Given the description of an element on the screen output the (x, y) to click on. 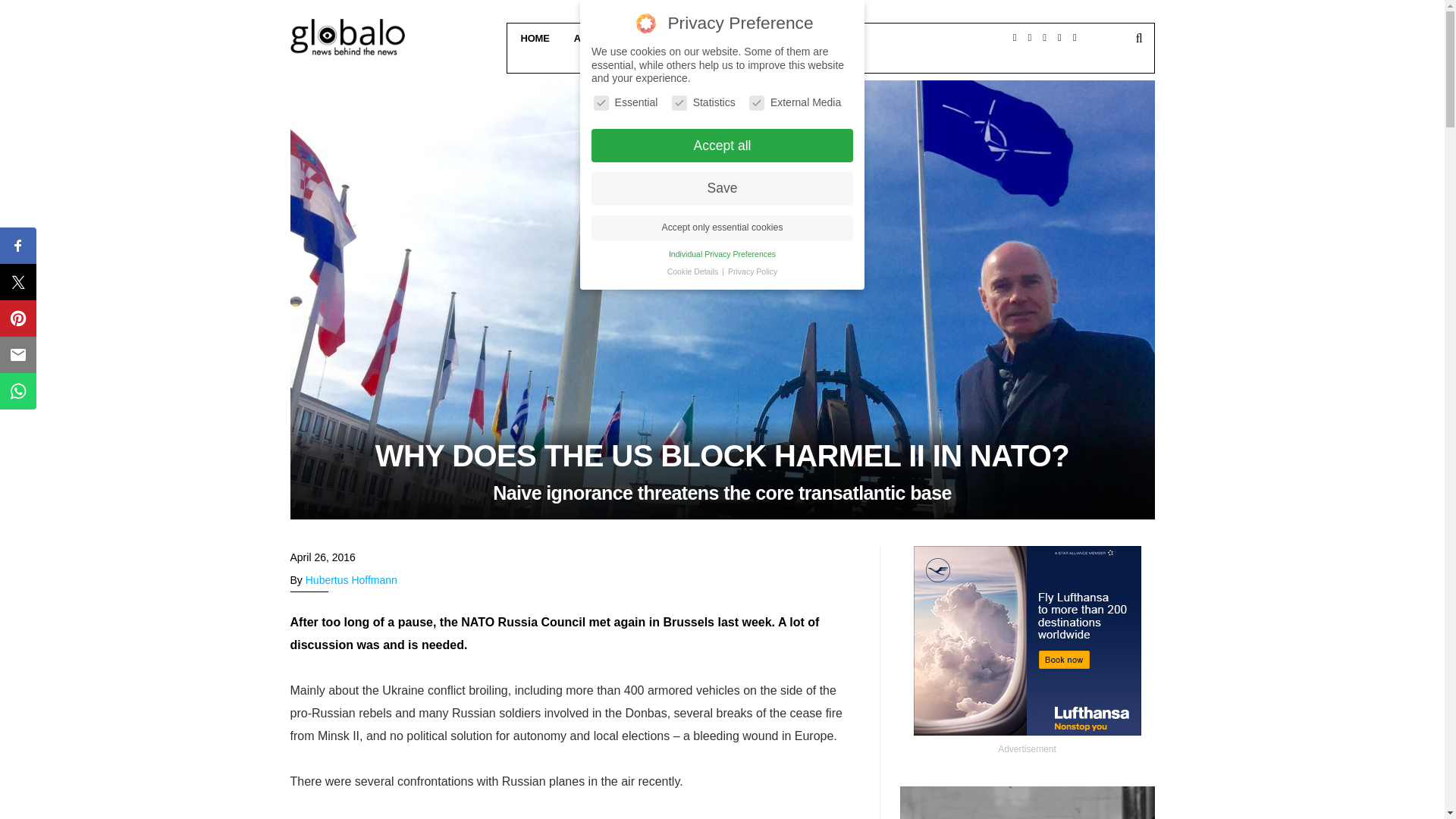
HOME (532, 38)
CATEGORIES (678, 38)
join (832, 33)
CONTACT US (765, 38)
JOIN (832, 57)
ABOUT US (597, 38)
Hubertus Hoffmann (351, 580)
